Given the description of an element on the screen output the (x, y) to click on. 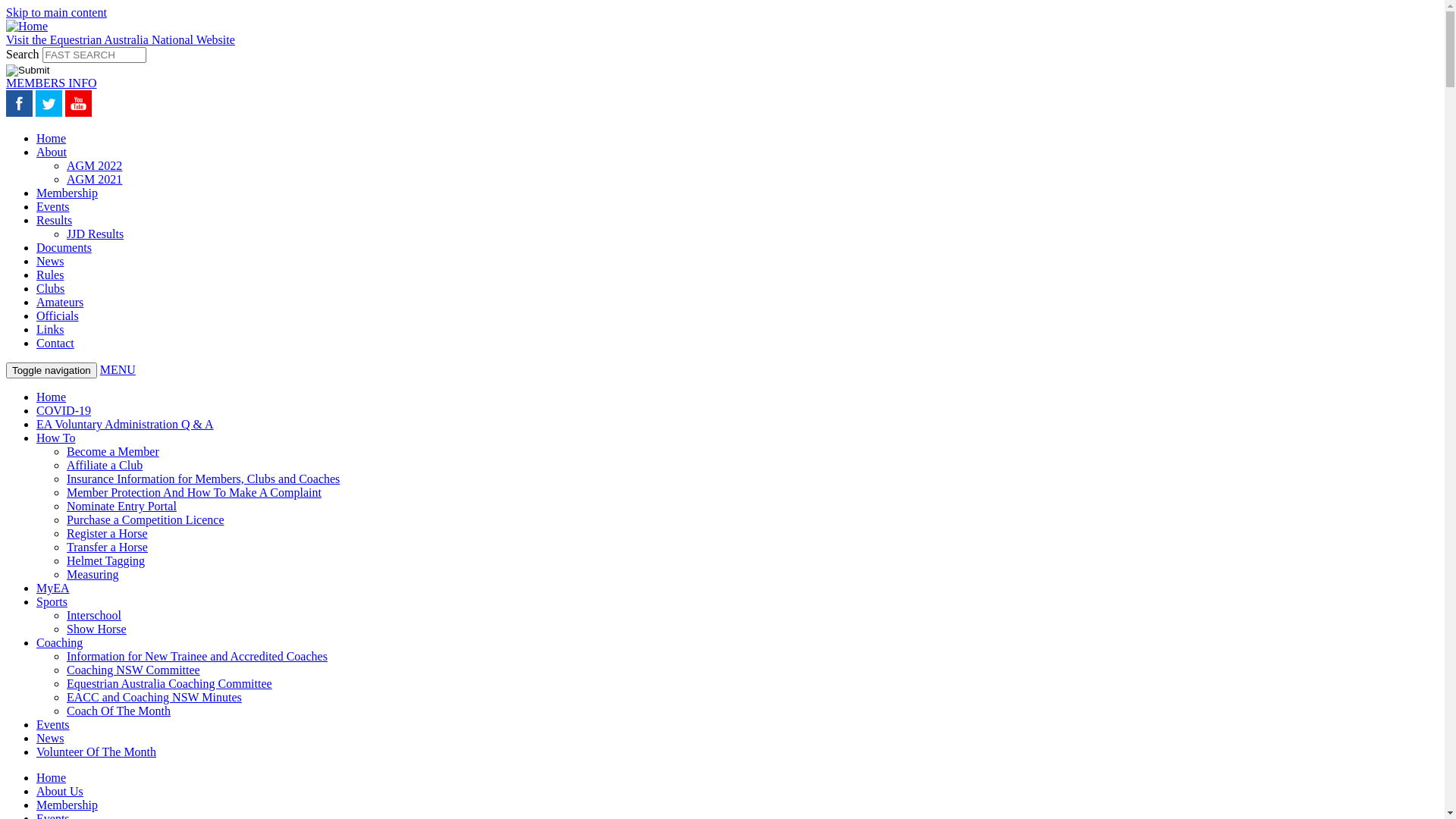
Officials Element type: text (57, 315)
Purchase a Competition Licence Element type: text (144, 519)
Events Element type: text (52, 724)
Documents Element type: text (63, 247)
MENU Element type: text (117, 369)
Member Protection And How To Make A Complaint Element type: text (193, 492)
Skip to main content Element type: text (56, 12)
Sports Element type: text (51, 601)
Rules Element type: text (49, 274)
About Element type: text (51, 151)
Affiliate a Club Element type: text (104, 464)
Visit the Equestrian Australia National Website Element type: text (120, 39)
Links Element type: text (49, 329)
COVID-19 Element type: text (63, 410)
Toggle navigation Element type: text (51, 370)
Helmet Tagging Element type: text (105, 560)
Home Element type: text (50, 777)
JJD Results Element type: text (94, 233)
Events Element type: text (52, 206)
Register a Horse Element type: text (106, 533)
Volunteer Of The Month Element type: text (96, 751)
How To Element type: text (55, 437)
Information for New Trainee and Accredited Coaches Element type: text (196, 655)
Coaching Element type: text (59, 642)
Home Element type: text (50, 137)
Measuring Element type: text (92, 573)
Interschool Element type: text (93, 614)
Membership Element type: text (66, 192)
Contact Element type: text (55, 342)
AGM 2021 Element type: text (94, 178)
Coach Of The Month Element type: text (118, 710)
EACC and Coaching NSW Minutes Element type: text (153, 696)
News Element type: text (49, 260)
Home Element type: text (50, 396)
Amateurs Element type: text (59, 301)
AGM 2022 Element type: text (94, 165)
MEMBERS INFO Element type: text (51, 82)
Clubs Element type: text (50, 288)
Transfer a Horse Element type: text (106, 546)
Results Element type: text (54, 219)
News Element type: text (49, 737)
Membership Element type: text (66, 804)
MyEA Element type: text (52, 587)
EA Voluntary Administration Q & A Element type: text (124, 423)
Equestrian Australia Coaching Committee Element type: text (169, 683)
Insurance Information for Members, Clubs and Coaches Element type: text (202, 478)
Show Horse Element type: text (96, 628)
Become a Member Element type: text (112, 451)
Coaching NSW Committee Element type: text (133, 669)
About Us Element type: text (59, 790)
Home Element type: hover (26, 25)
Nominate Entry Portal Element type: text (121, 505)
